Given the description of an element on the screen output the (x, y) to click on. 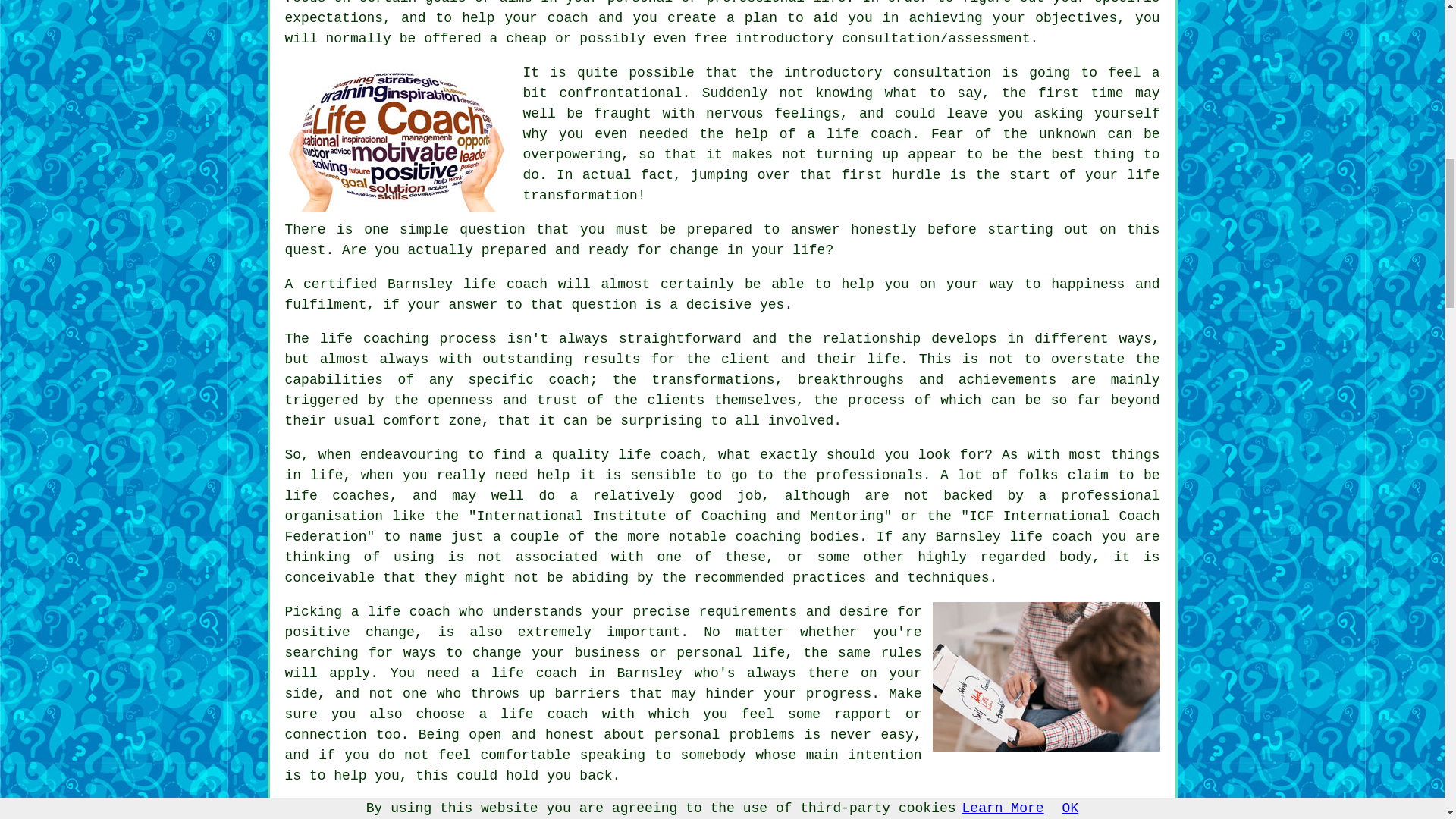
Life Coaches Near Barnsley South Yorkshire (1046, 676)
